Given the description of an element on the screen output the (x, y) to click on. 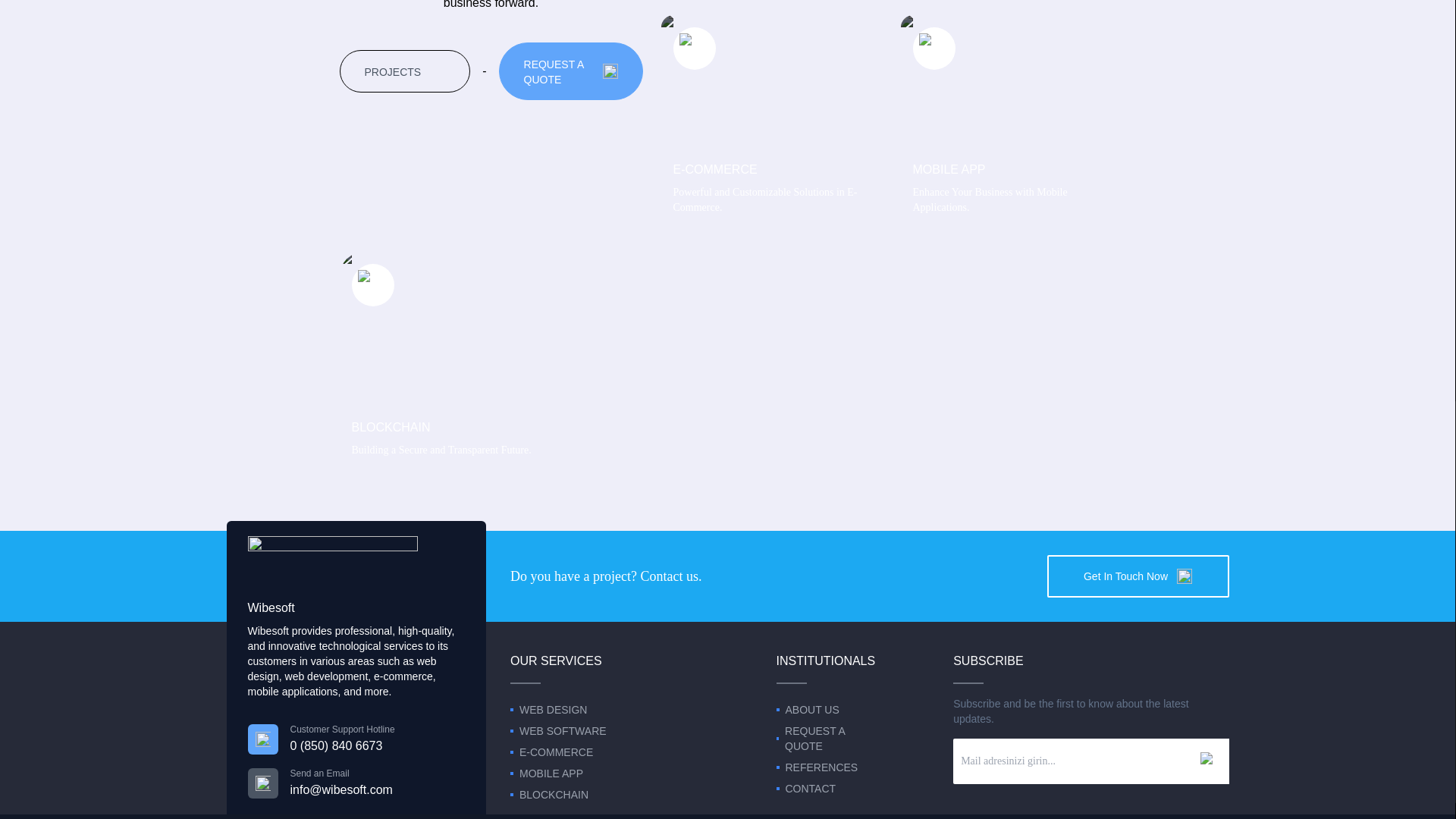
PROJECTS (1008, 121)
REQUEST A QUOTE (404, 70)
